Given the description of an element on the screen output the (x, y) to click on. 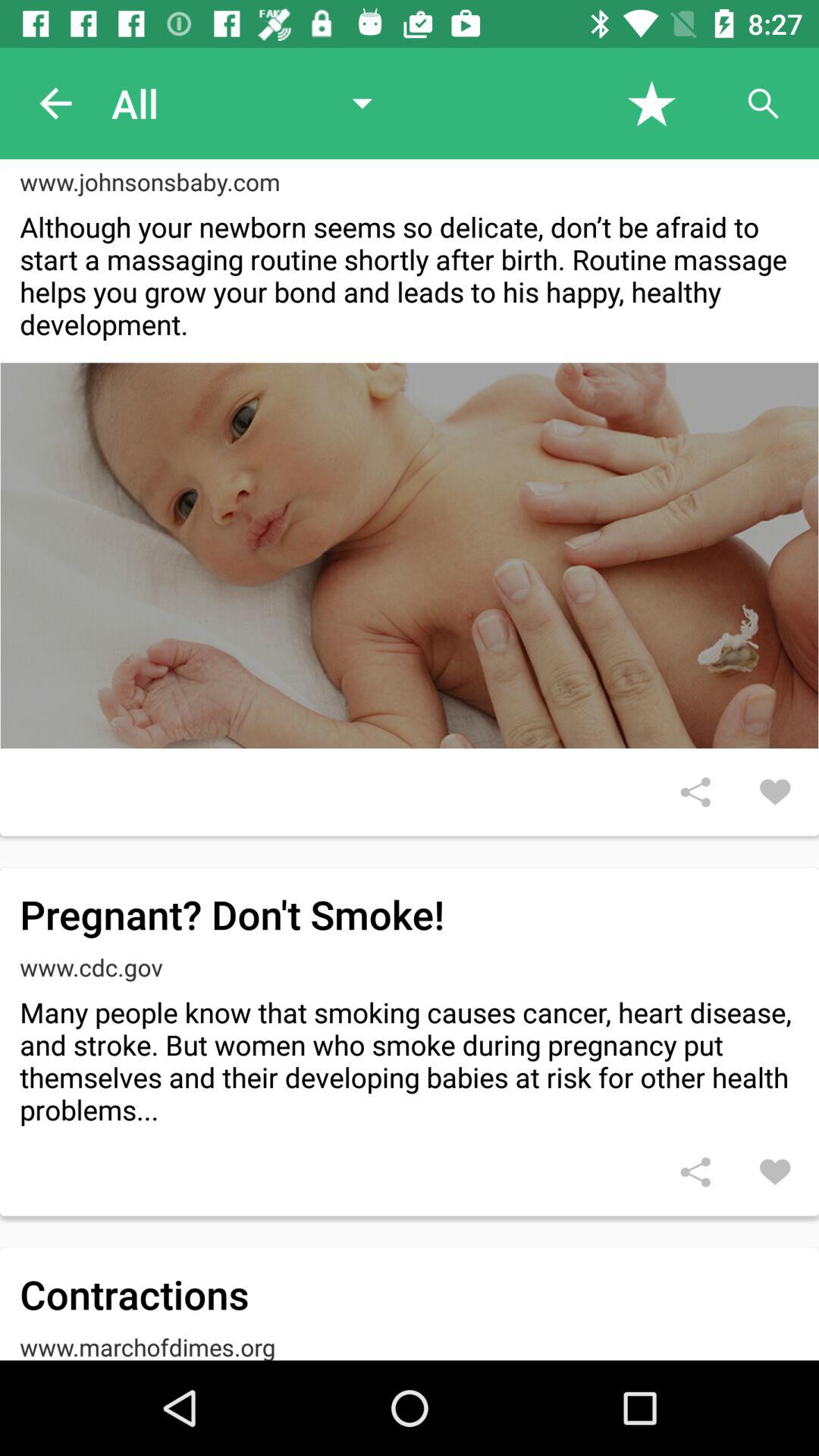
add the result to favorites (775, 1172)
